Given the description of an element on the screen output the (x, y) to click on. 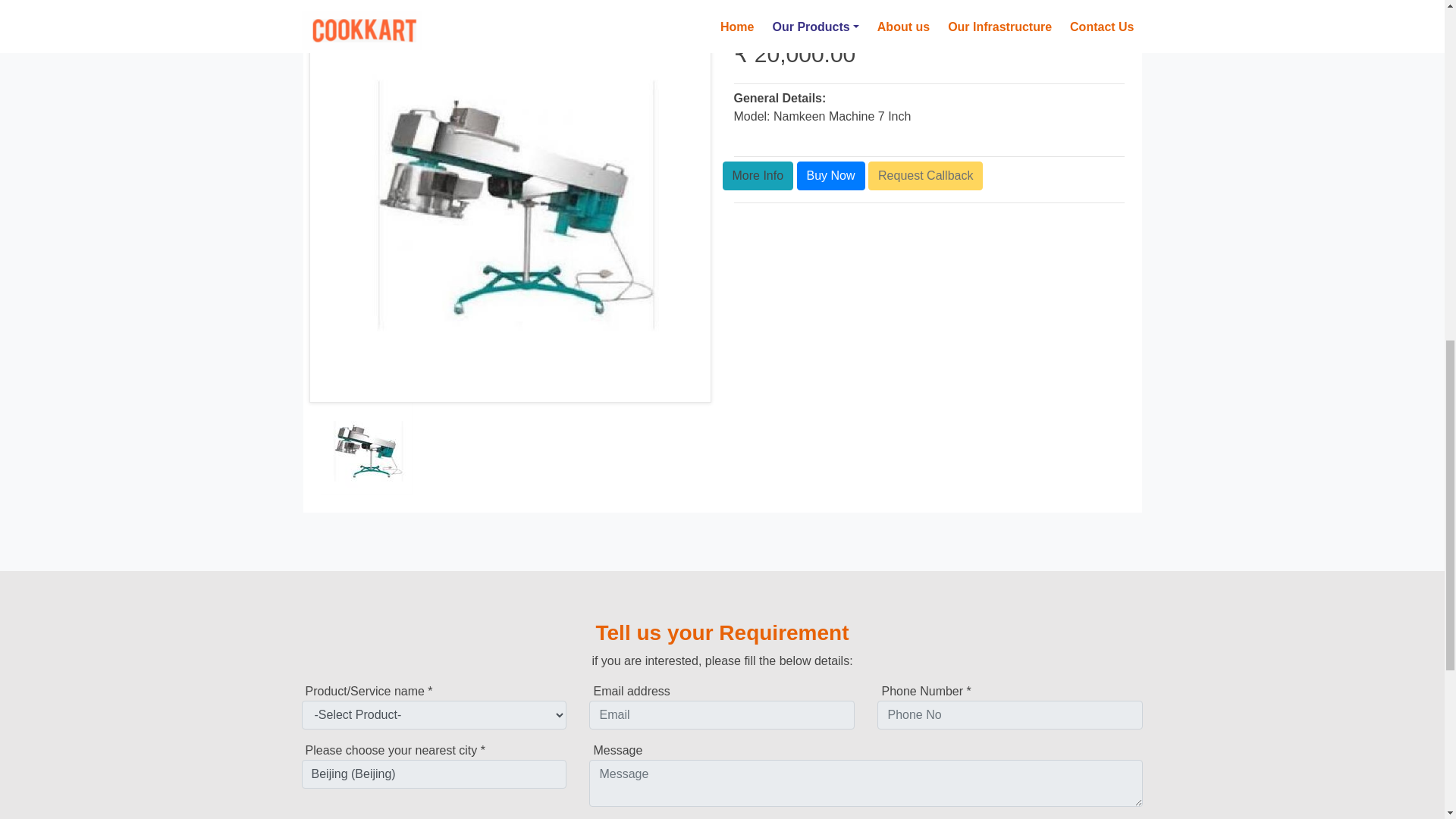
Namkeen Machine 7 Inch (830, 175)
